Given the description of an element on the screen output the (x, y) to click on. 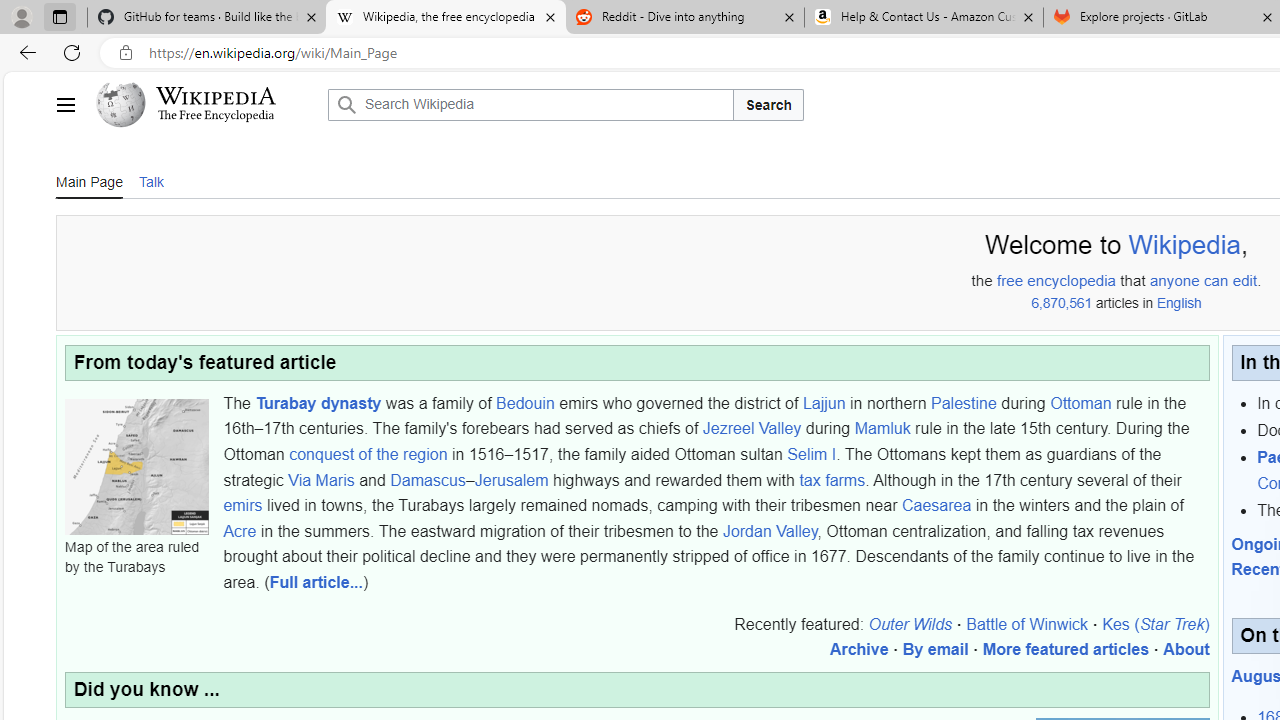
Search Wikipedia (530, 104)
Mamluk (882, 428)
By email (935, 649)
free (1009, 281)
emirs (242, 505)
Jerusalem (511, 479)
encyclopedia (1071, 281)
Kes (Star Trek) (1155, 623)
Lajjun (824, 402)
Help & Contact Us - Amazon Customer Service (924, 17)
Kes (Star Trek) (1155, 623)
Wikipedia, the free encyclopedia (445, 17)
Map of the area ruled by the Turabays (136, 466)
